Given the description of an element on the screen output the (x, y) to click on. 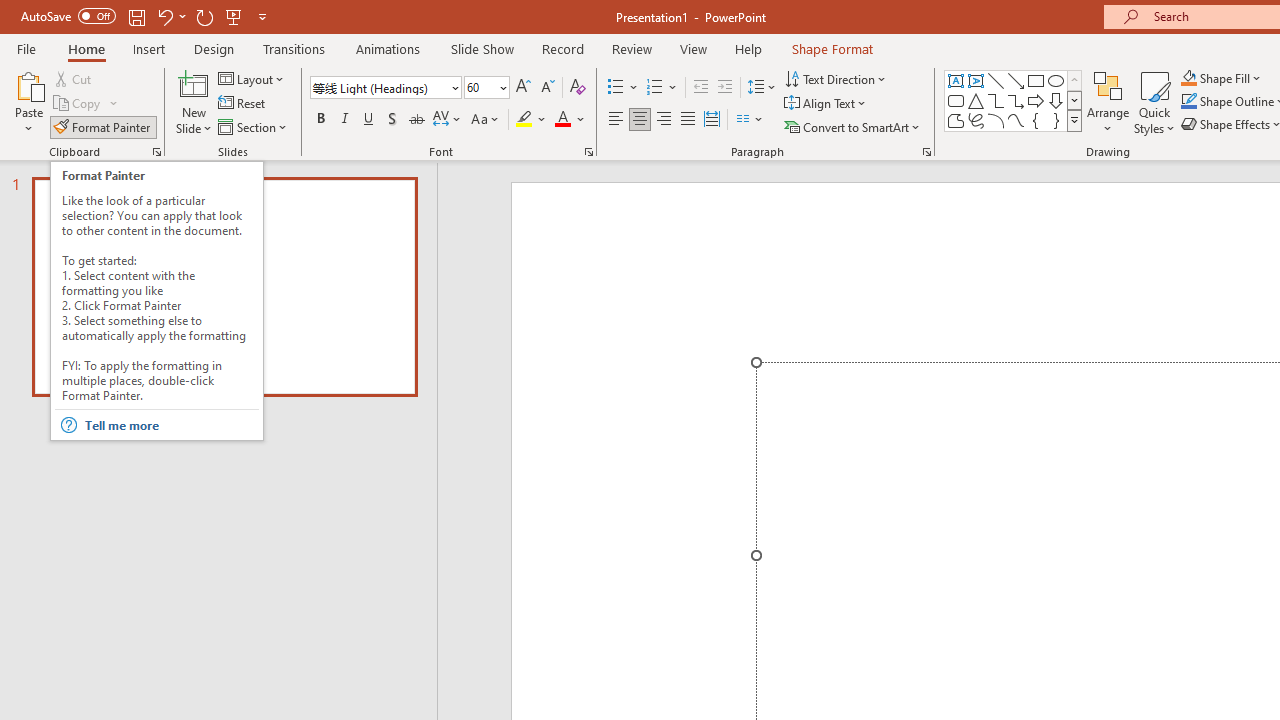
Rectangle: Rounded Corners (955, 100)
Oval (1055, 80)
Redo (204, 15)
Line Spacing (762, 87)
Align Left (616, 119)
Convert to SmartArt (853, 126)
Font Color Red (562, 119)
Line Arrow (1016, 80)
Strikethrough (416, 119)
Slide Show (481, 48)
Review (631, 48)
Right Brace (1055, 120)
Bold (320, 119)
